Given the description of an element on the screen output the (x, y) to click on. 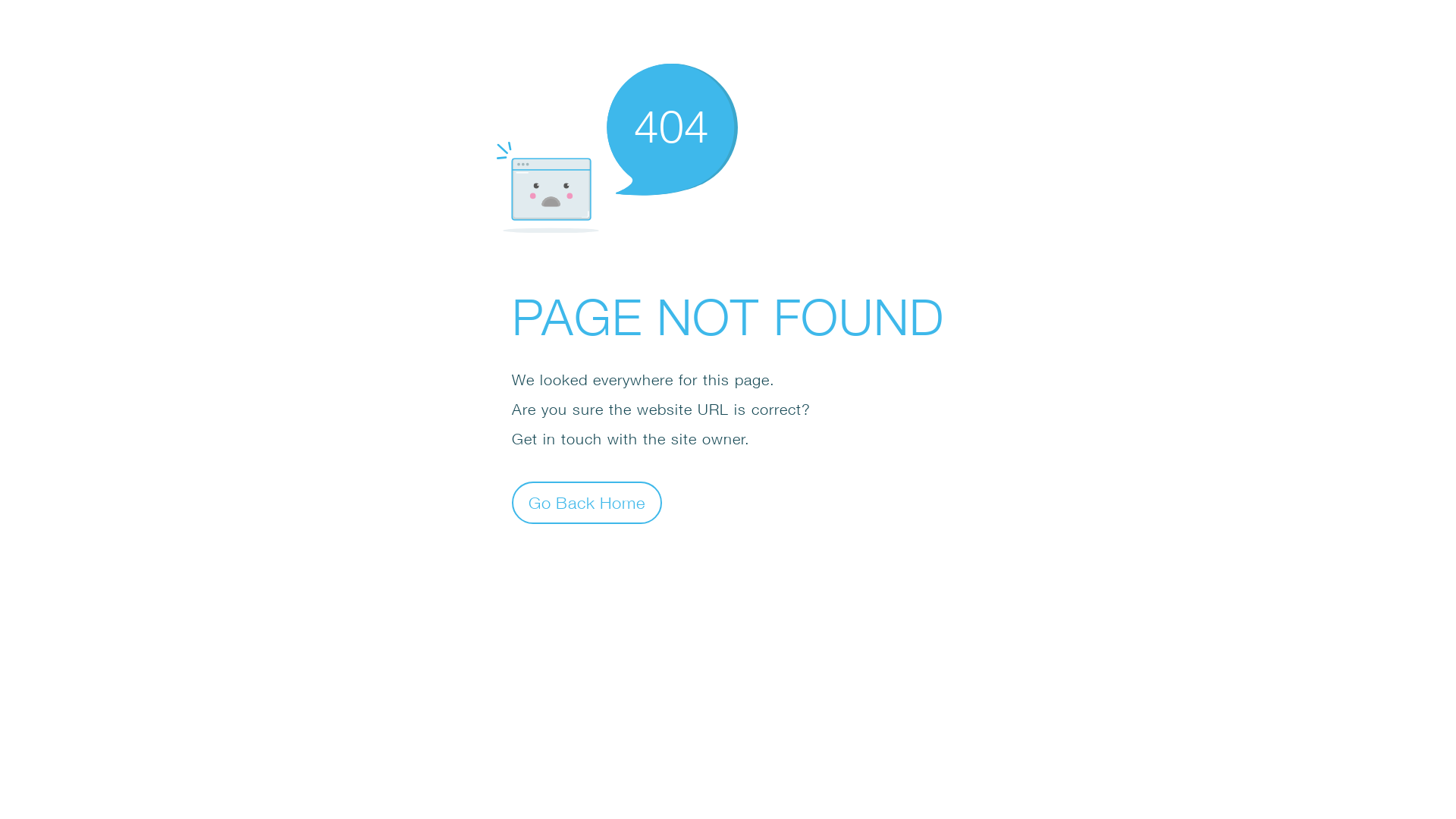
Go Back Home Element type: text (586, 502)
